Given the description of an element on the screen output the (x, y) to click on. 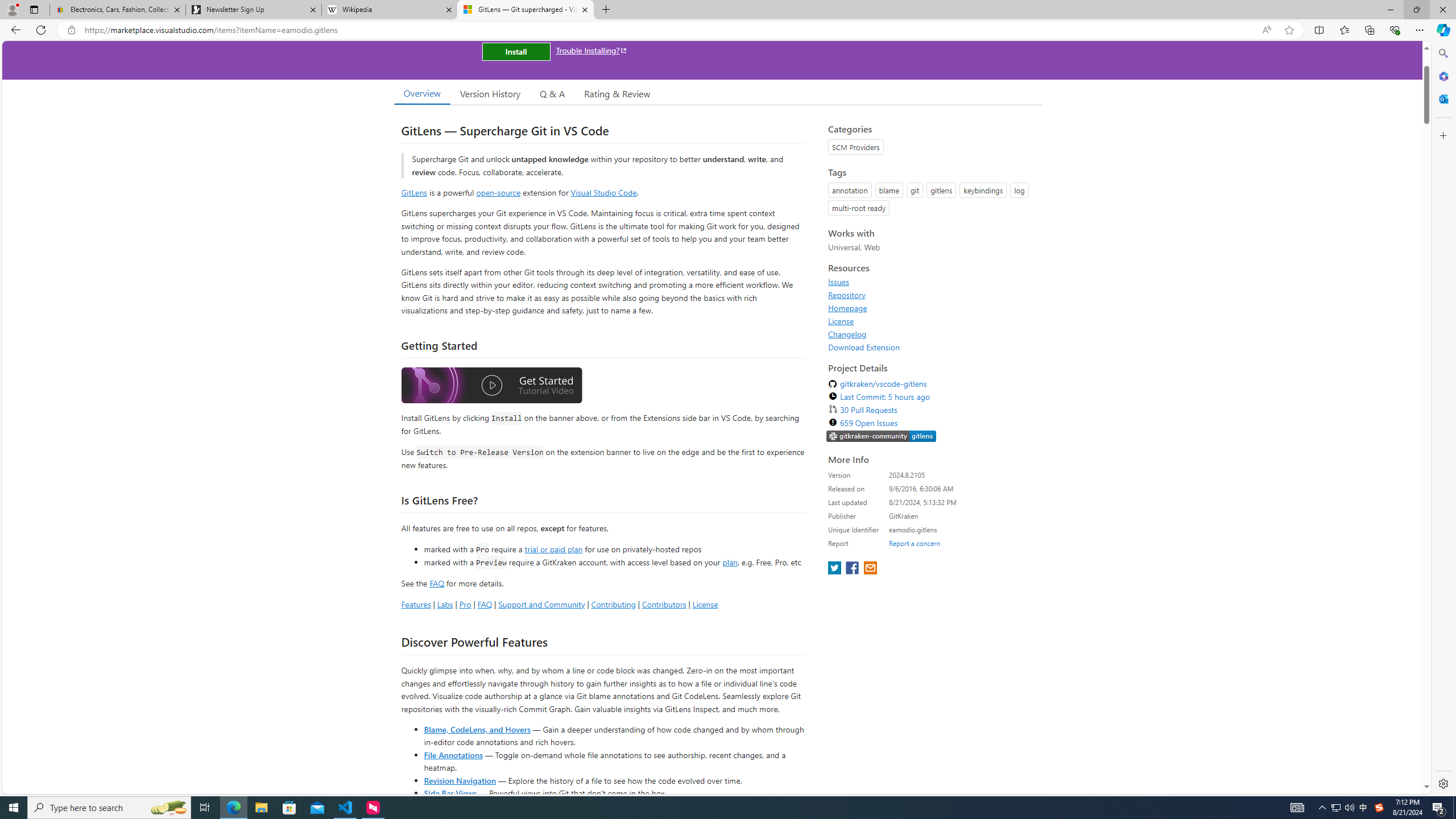
Support and Community (541, 603)
plan (730, 562)
License (840, 320)
Overview (421, 92)
Wikipedia (390, 9)
Download Extension (863, 346)
Homepage (847, 307)
https://slack.gitkraken.com// (881, 436)
Watch the GitLens Getting Started video (491, 385)
Report a concern (914, 542)
